Given the description of an element on the screen output the (x, y) to click on. 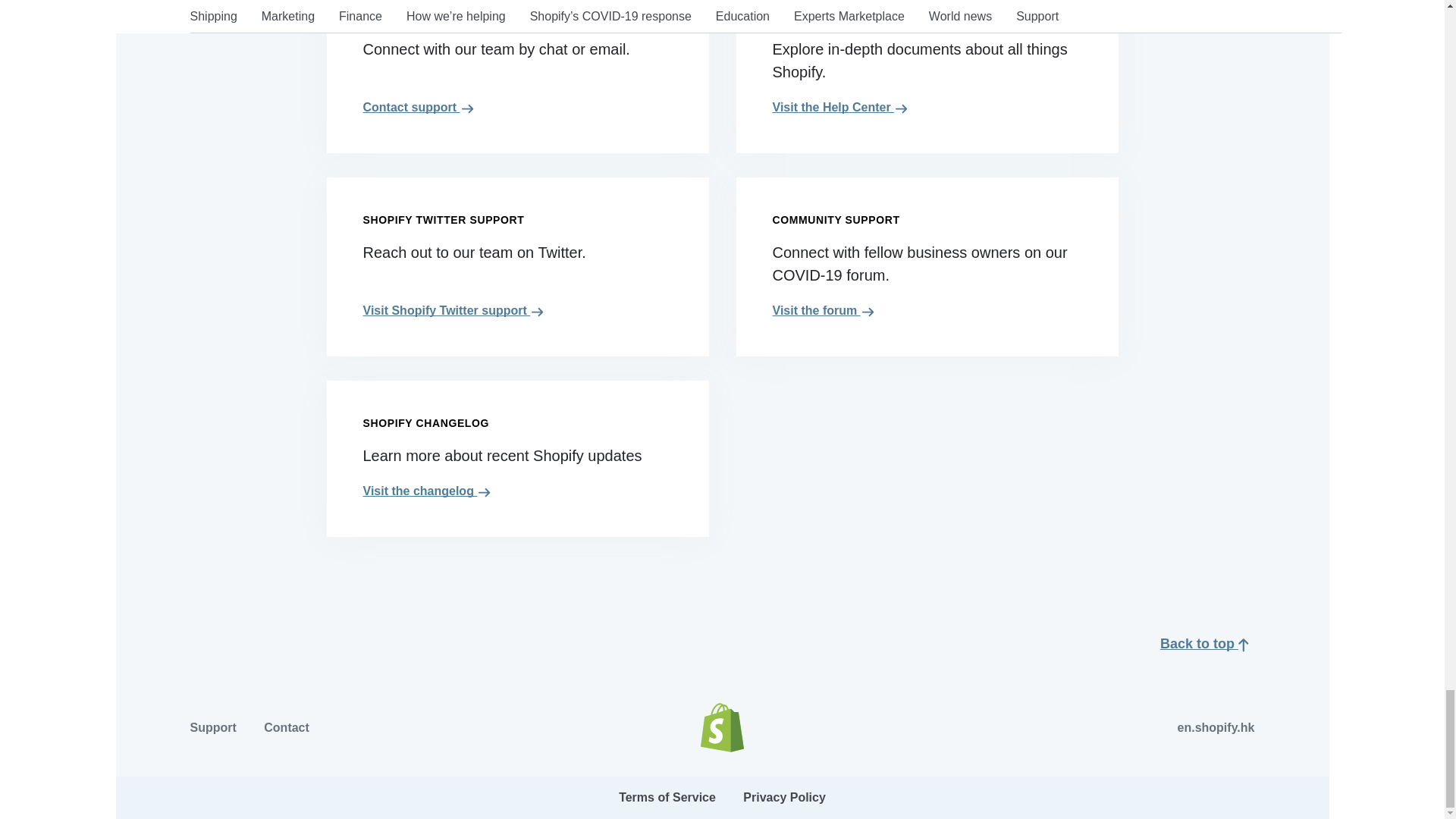
Back to top  (1207, 643)
